Given the description of an element on the screen output the (x, y) to click on. 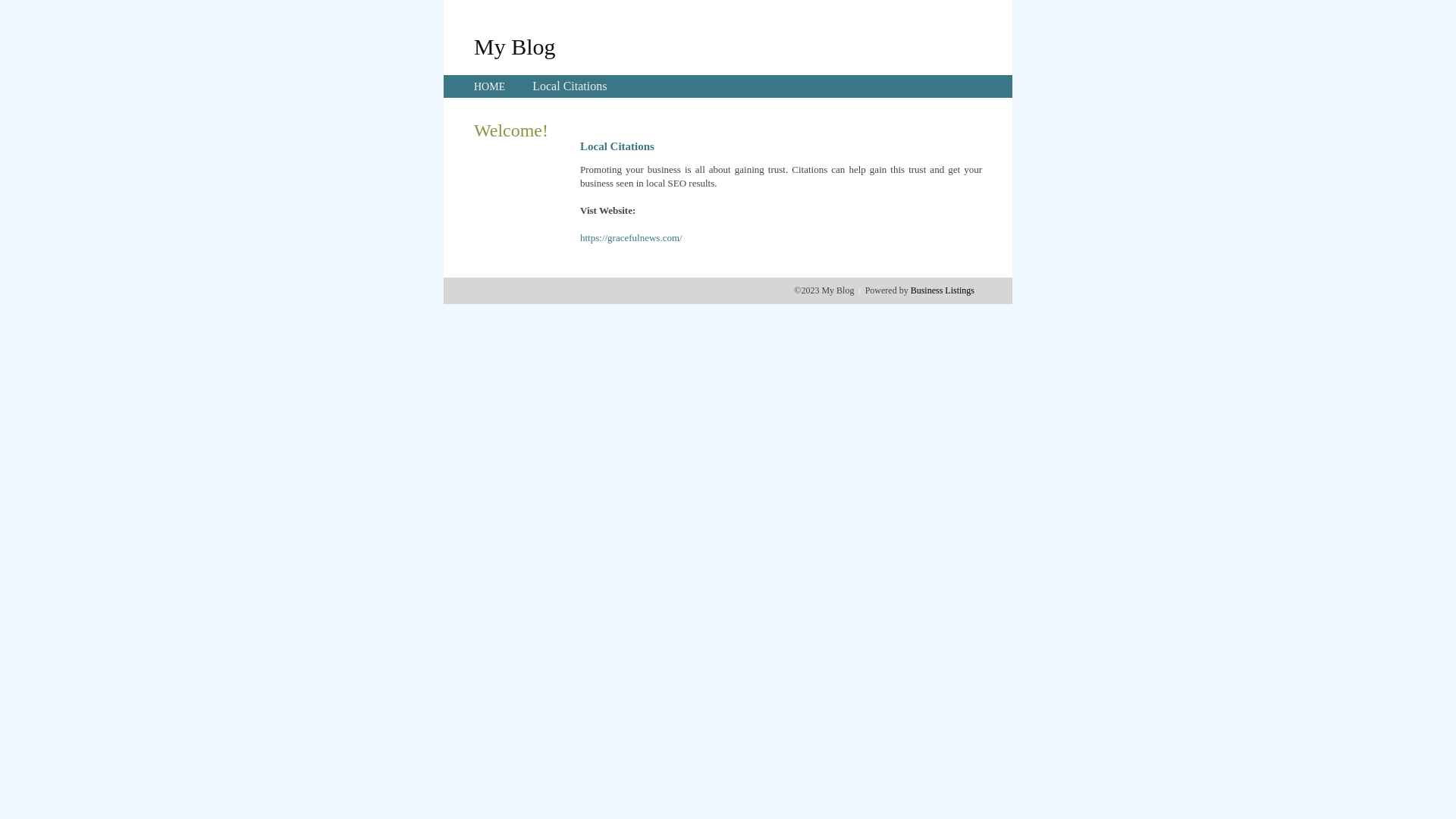
My Blog Element type: text (514, 46)
https://gracefulnews.com/ Element type: text (631, 237)
HOME Element type: text (489, 86)
Local Citations Element type: text (569, 85)
Business Listings Element type: text (942, 290)
